Given the description of an element on the screen output the (x, y) to click on. 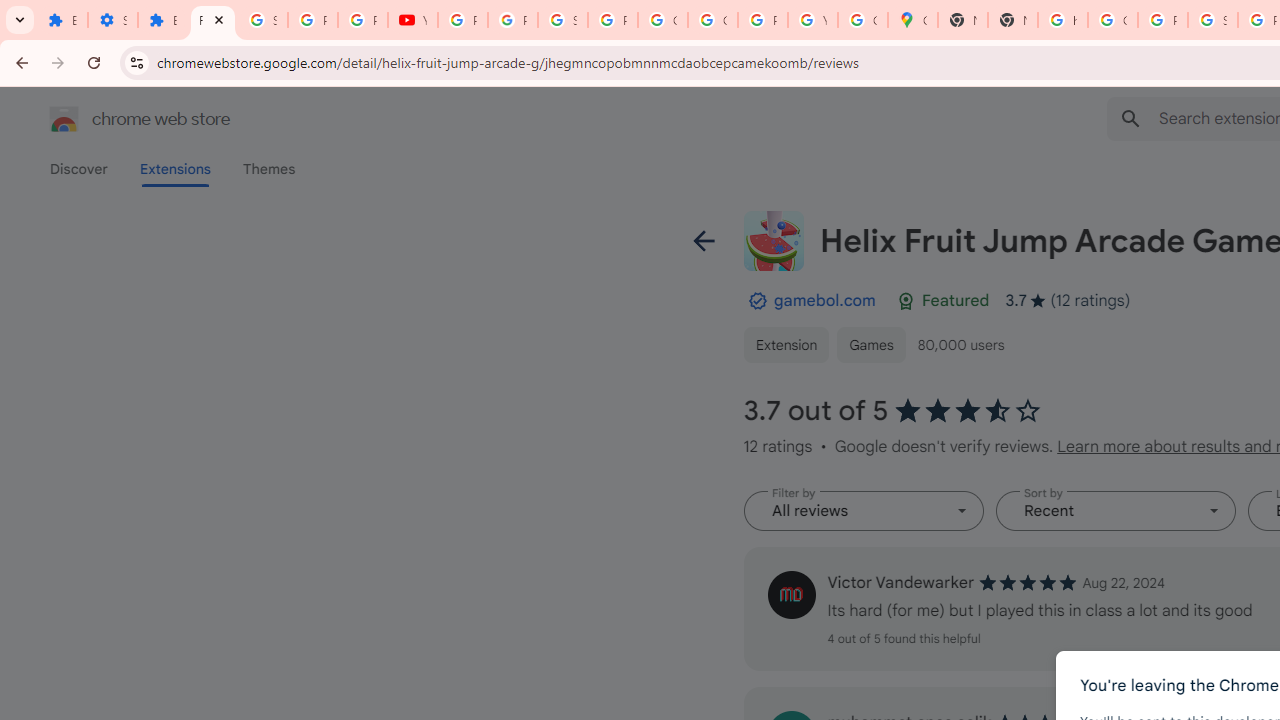
Google Maps (913, 20)
Sign in - Google Accounts (262, 20)
Settings (113, 20)
Sign in - Google Accounts (562, 20)
Google Account (662, 20)
Extensions (163, 20)
Reviews: Helix Fruit Jump Arcade Game (213, 20)
